Given the description of an element on the screen output the (x, y) to click on. 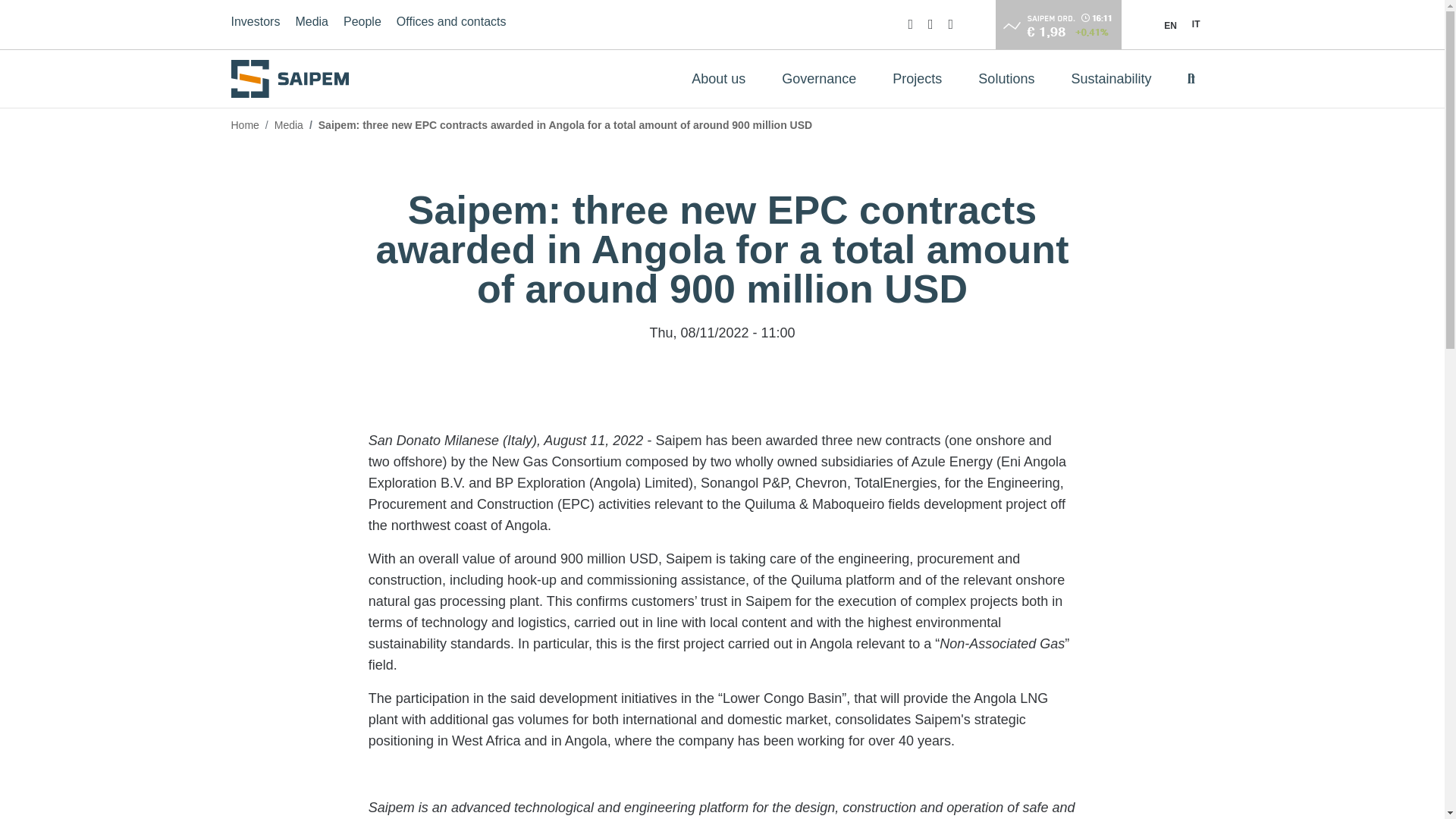
Investors (254, 24)
Home (294, 78)
